Given the description of an element on the screen output the (x, y) to click on. 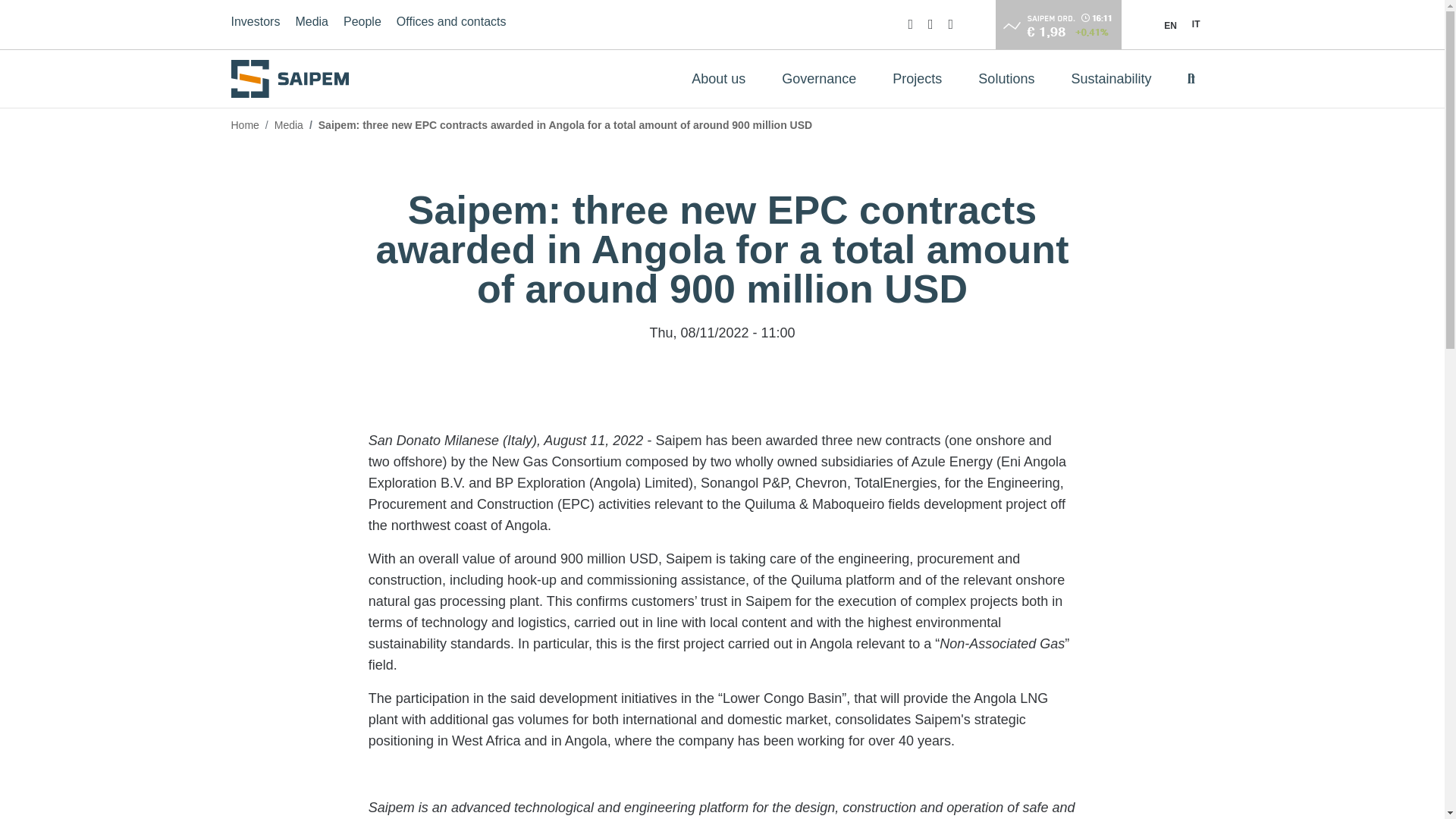
Investors (254, 24)
Home (294, 78)
